Given the description of an element on the screen output the (x, y) to click on. 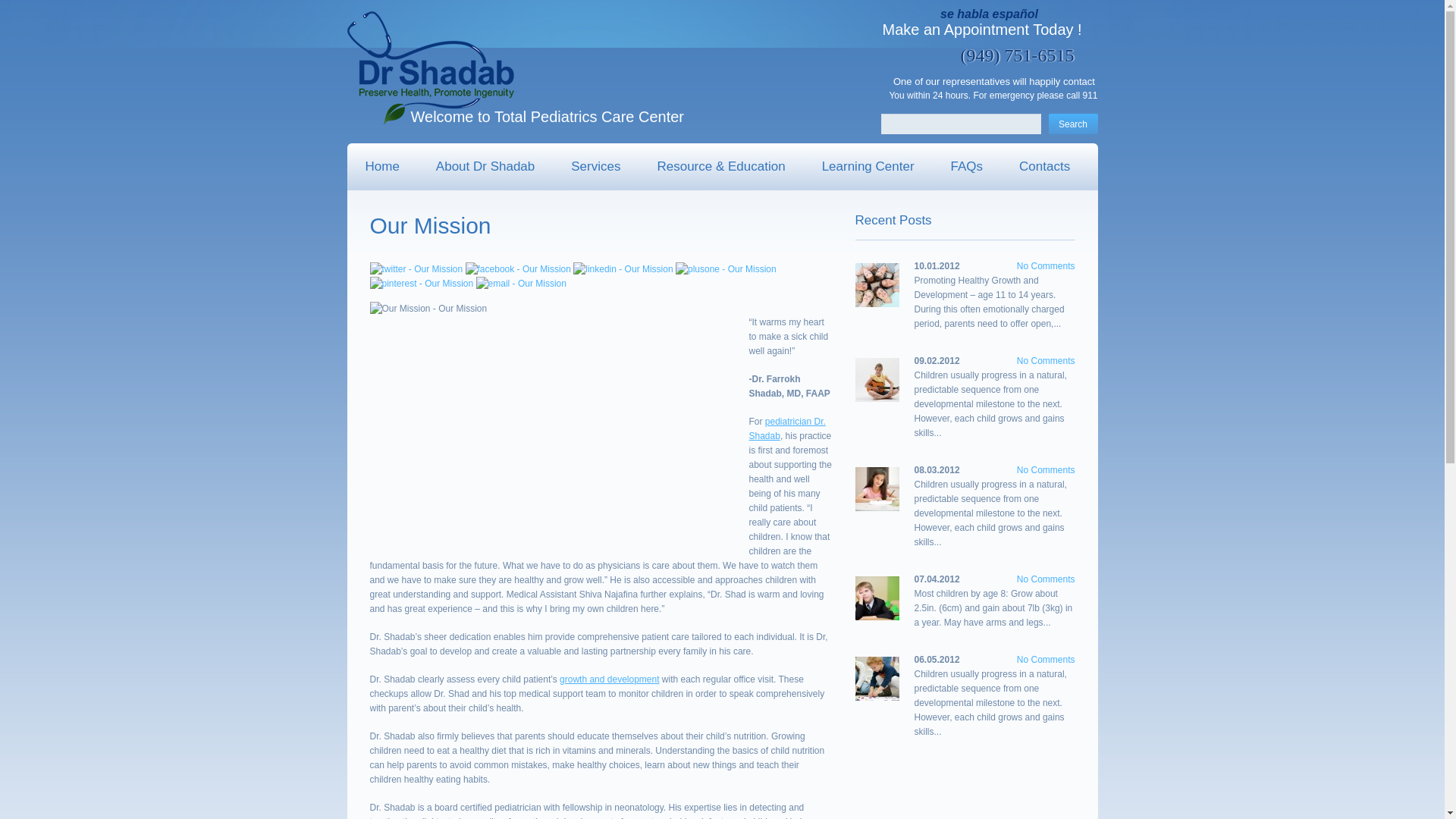
Welcome to Total Pediatrics Care Center (430, 68)
FAQs (967, 166)
Services (596, 166)
Email (521, 283)
Twitter (416, 268)
Search (1072, 124)
linkedin - Our Mission (622, 269)
Our Mission - Our Mission (551, 423)
Search (1072, 124)
About Dr Shadab (485, 166)
growth and development (609, 679)
Pinterest (421, 283)
Growth and Development of age 10 (936, 360)
twitter - Our Mission (416, 269)
Growth and Development of age 11 to 14 years (936, 266)
